Given the description of an element on the screen output the (x, y) to click on. 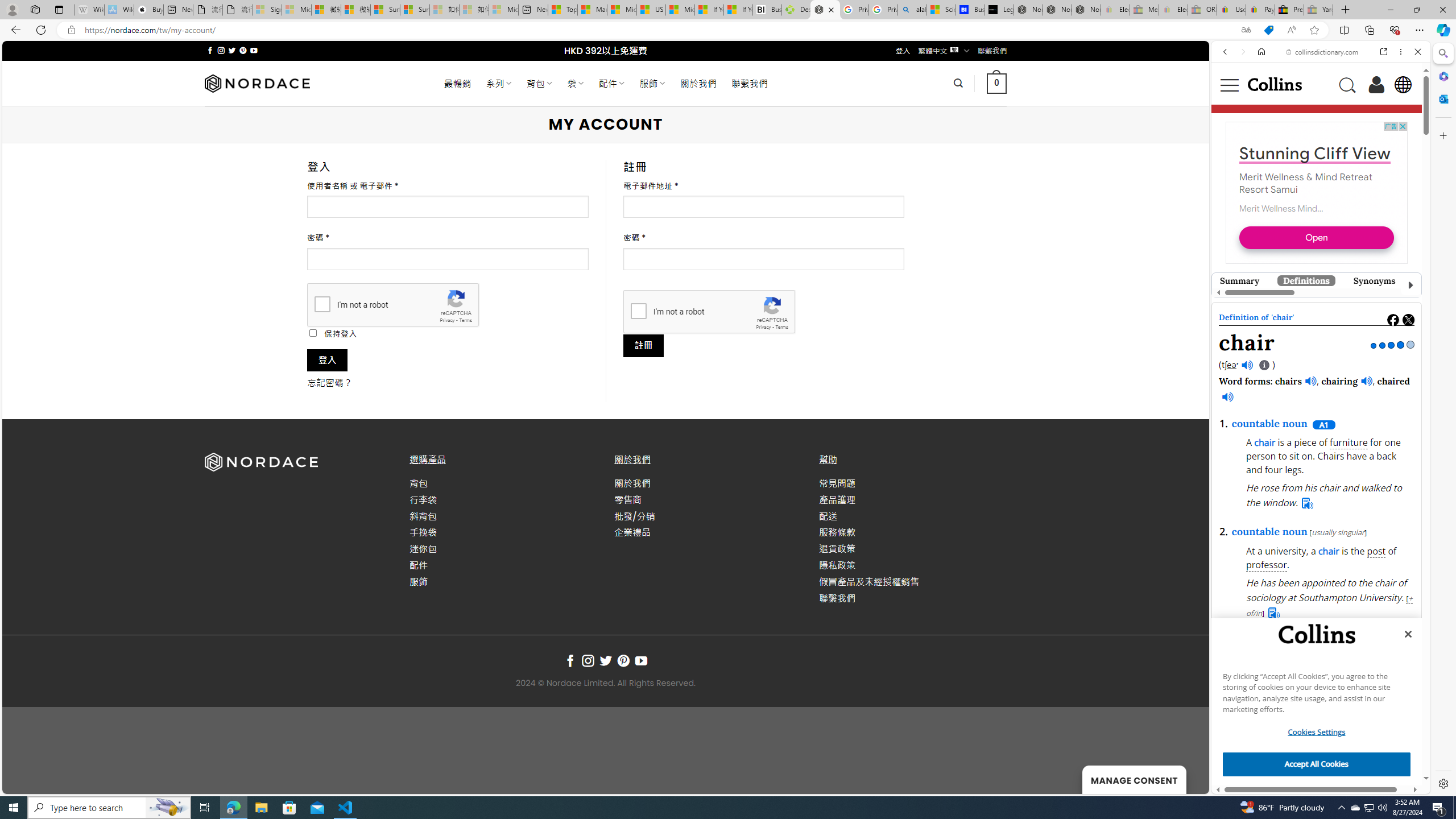
Enter a word (1289, 184)
alabama high school quarterback dies - Search (911, 9)
  0   (995, 83)
professorship (1291, 393)
